Given the description of an element on the screen output the (x, y) to click on. 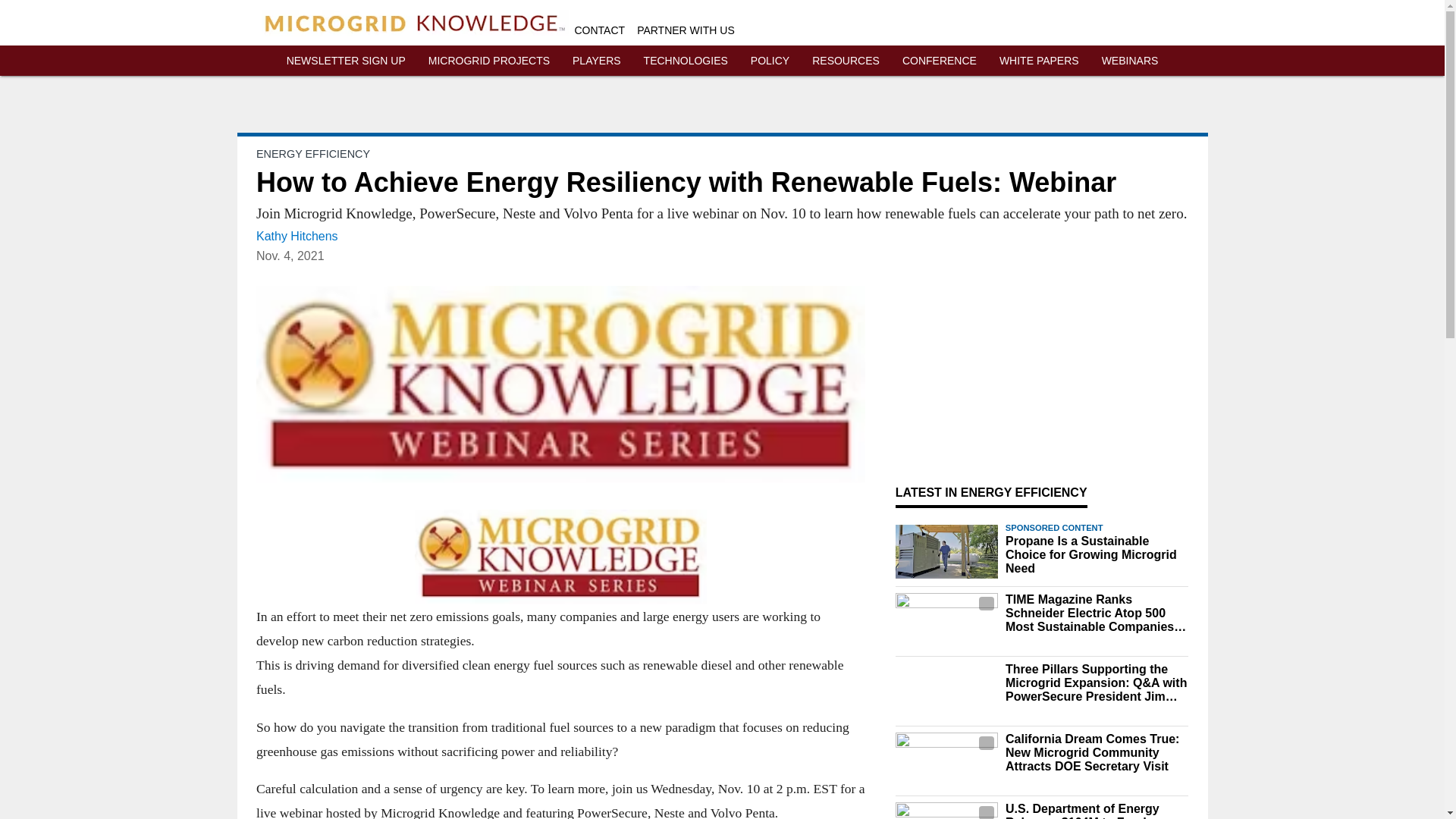
WEBINARS (1130, 60)
MGK-Webinar-Series-small-002-300x97 (559, 556)
POLICY (770, 60)
LATEST IN ENERGY EFFICIENCY (991, 492)
Kathy Hitchens (296, 236)
Propane Is a Sustainable Choice for Growing Microgrid Need (1097, 554)
CONTACT (600, 30)
MICROGRID PROJECTS (489, 60)
WHITE PAPERS (1038, 60)
PLAYERS (596, 60)
PARTNER WITH US (686, 30)
NEWSLETTER SIGN UP (346, 60)
ENERGY EFFICIENCY (312, 153)
RESOURCES (845, 60)
